Given the description of an element on the screen output the (x, y) to click on. 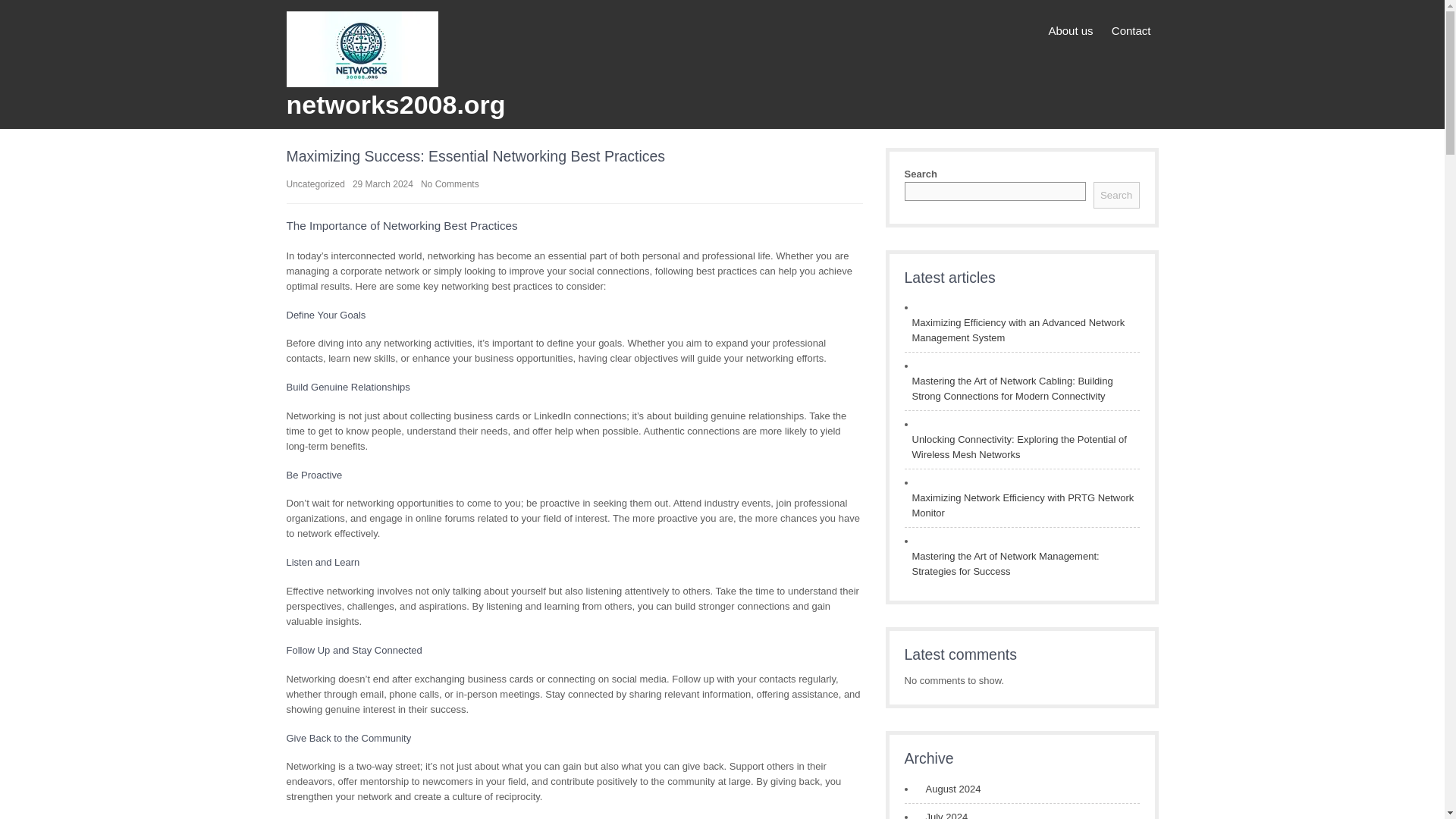
August 2024 (948, 789)
About us (1070, 31)
July 2024 (942, 814)
Uncategorized (315, 184)
No Comments (449, 184)
networks2008.org (395, 104)
Maximizing Network Efficiency with PRTG Network Monitor (1021, 505)
Search (1116, 194)
